Given the description of an element on the screen output the (x, y) to click on. 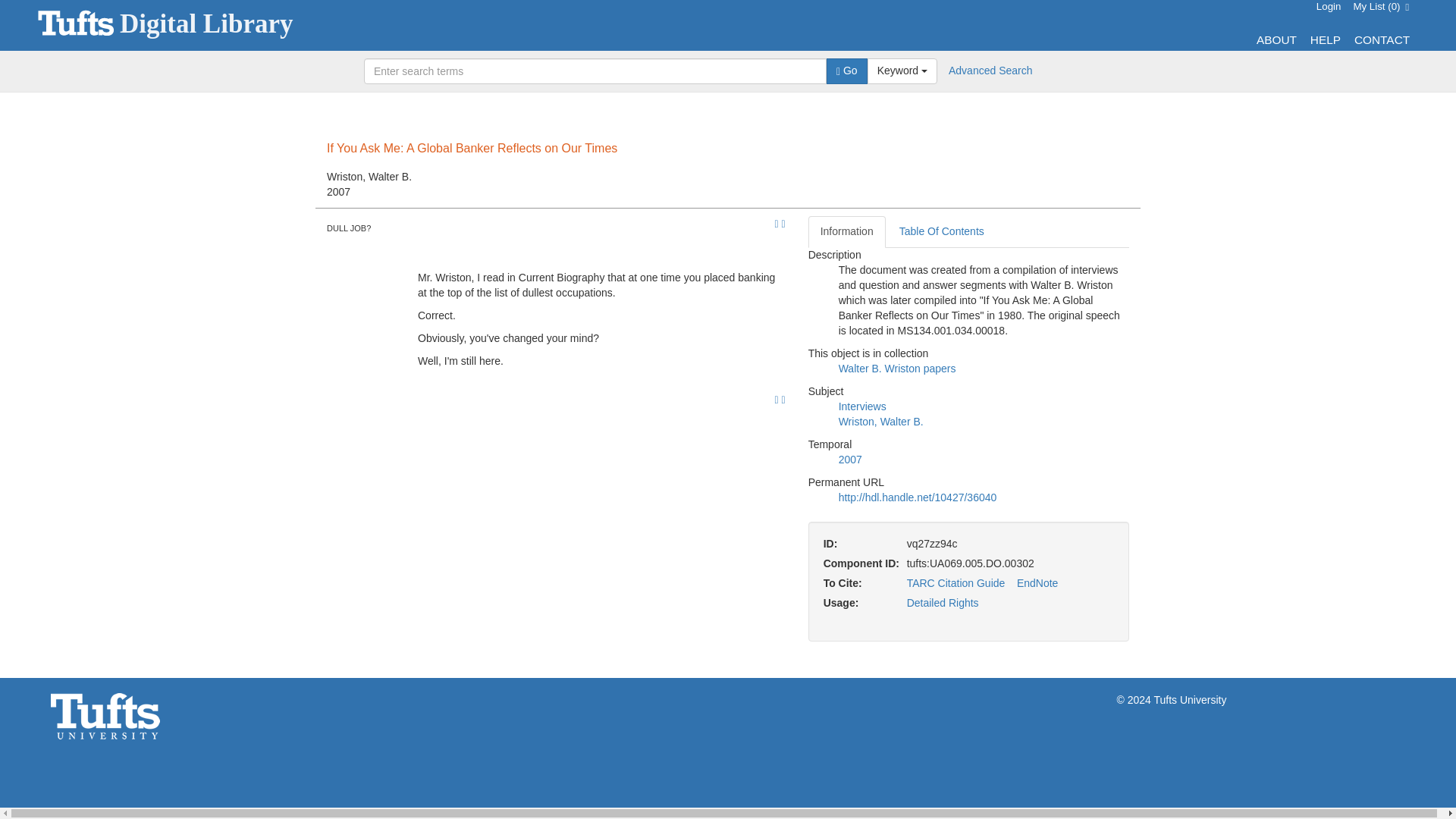
Advanced Search (990, 70)
CONTACT (1381, 39)
HELP (1325, 39)
Wriston, Walter B. (880, 421)
Go (847, 71)
EndNote (1037, 582)
Login (1328, 6)
Walter B. Wriston papers (897, 368)
2007 (849, 459)
TARC Citation Guide (956, 582)
